Given the description of an element on the screen output the (x, y) to click on. 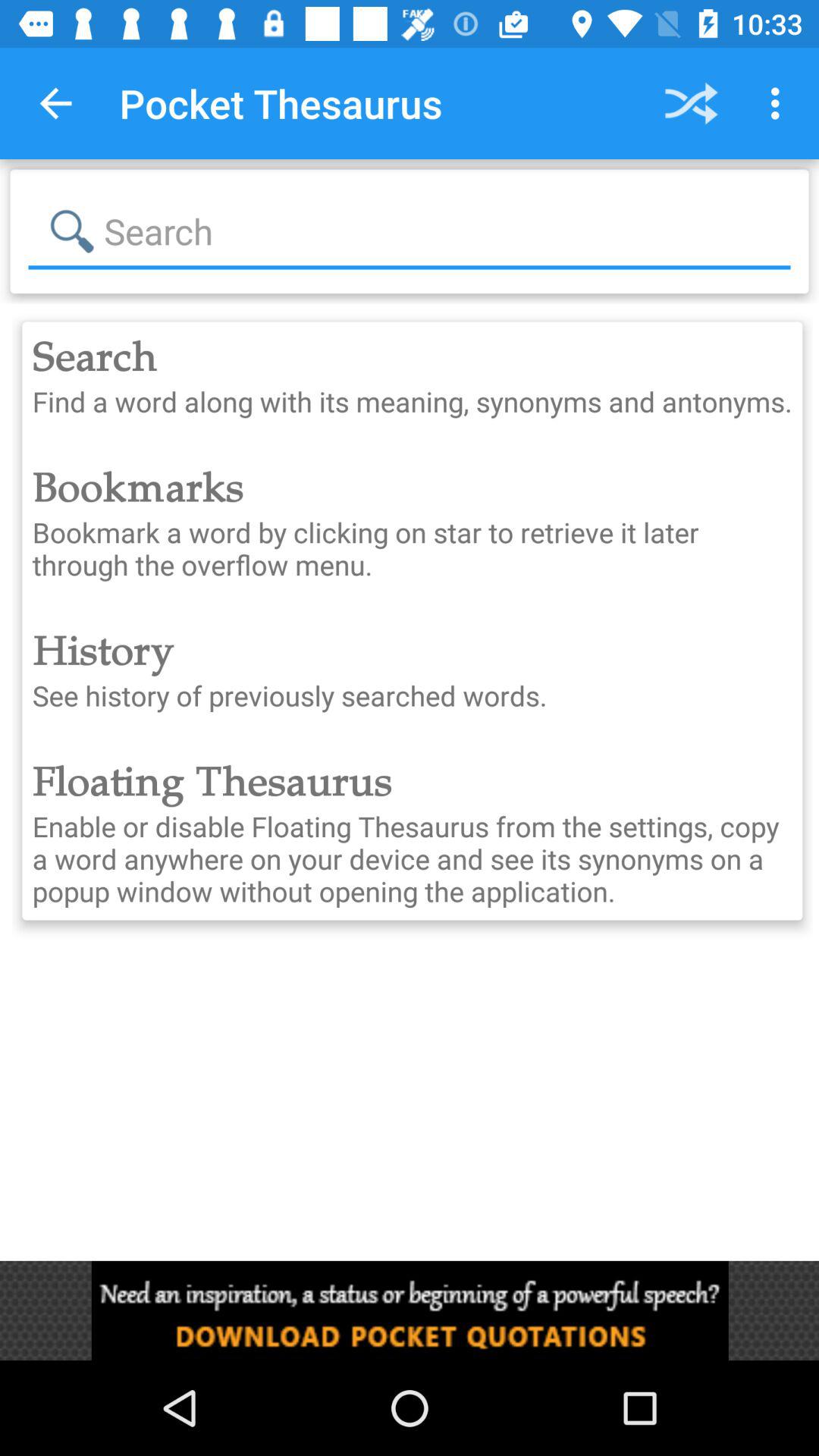
new advertisement open box (409, 1310)
